Given the description of an element on the screen output the (x, y) to click on. 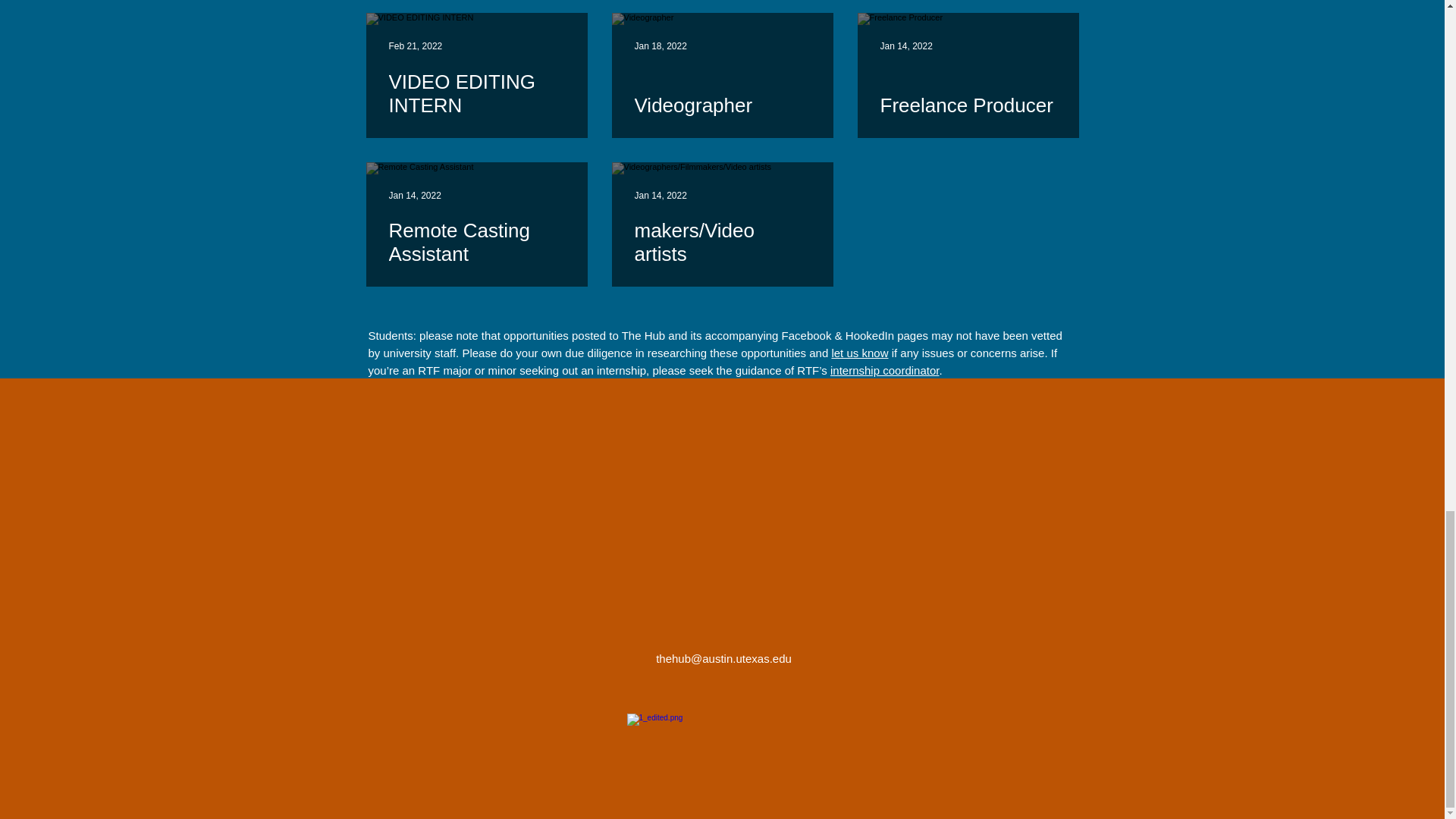
Jan 14, 2022 (414, 194)
Feb 21, 2022 (415, 45)
Jan 18, 2022 (659, 45)
Jan 14, 2022 (905, 45)
